Given the description of an element on the screen output the (x, y) to click on. 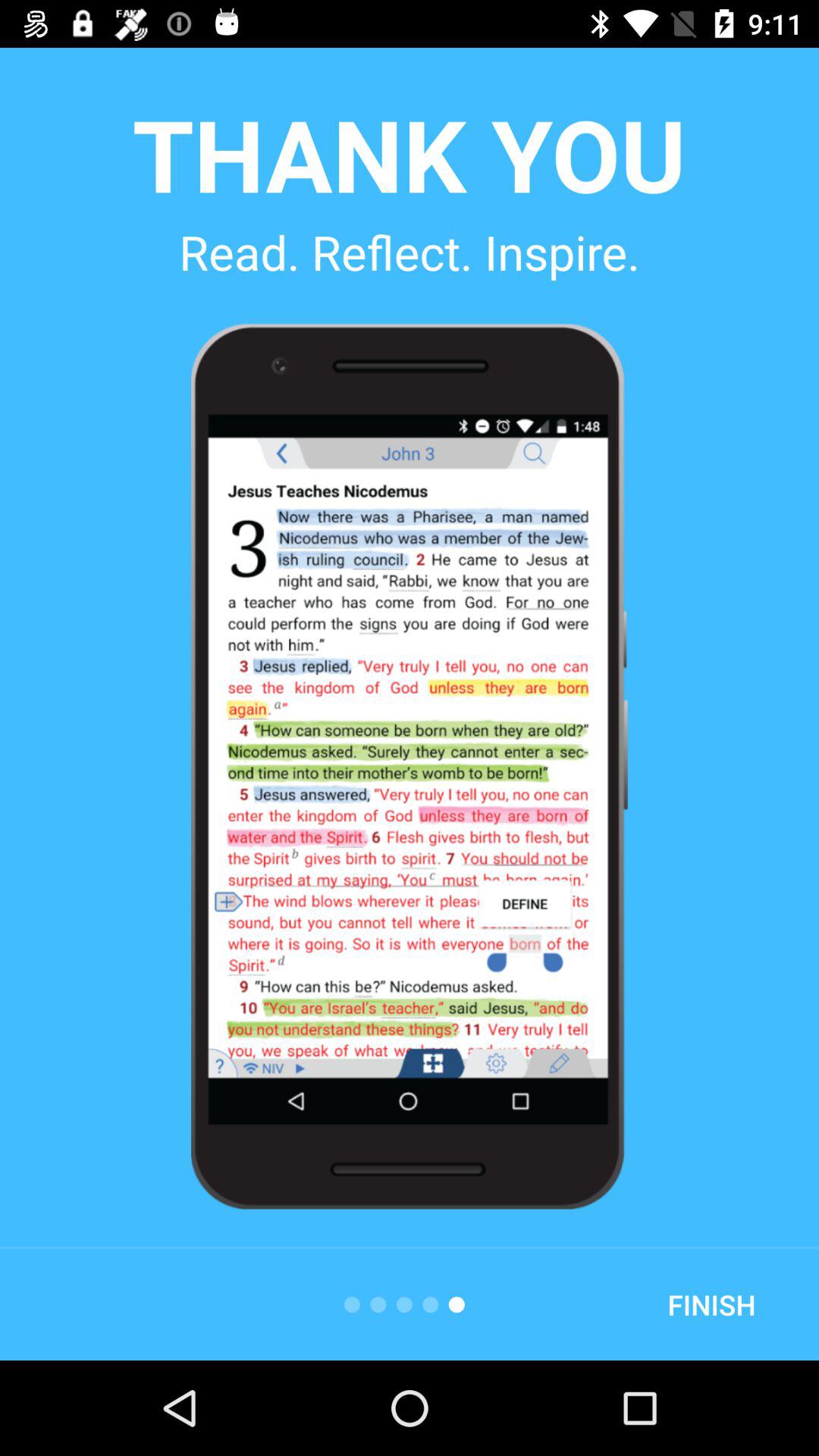
flip to finish (711, 1304)
